Given the description of an element on the screen output the (x, y) to click on. 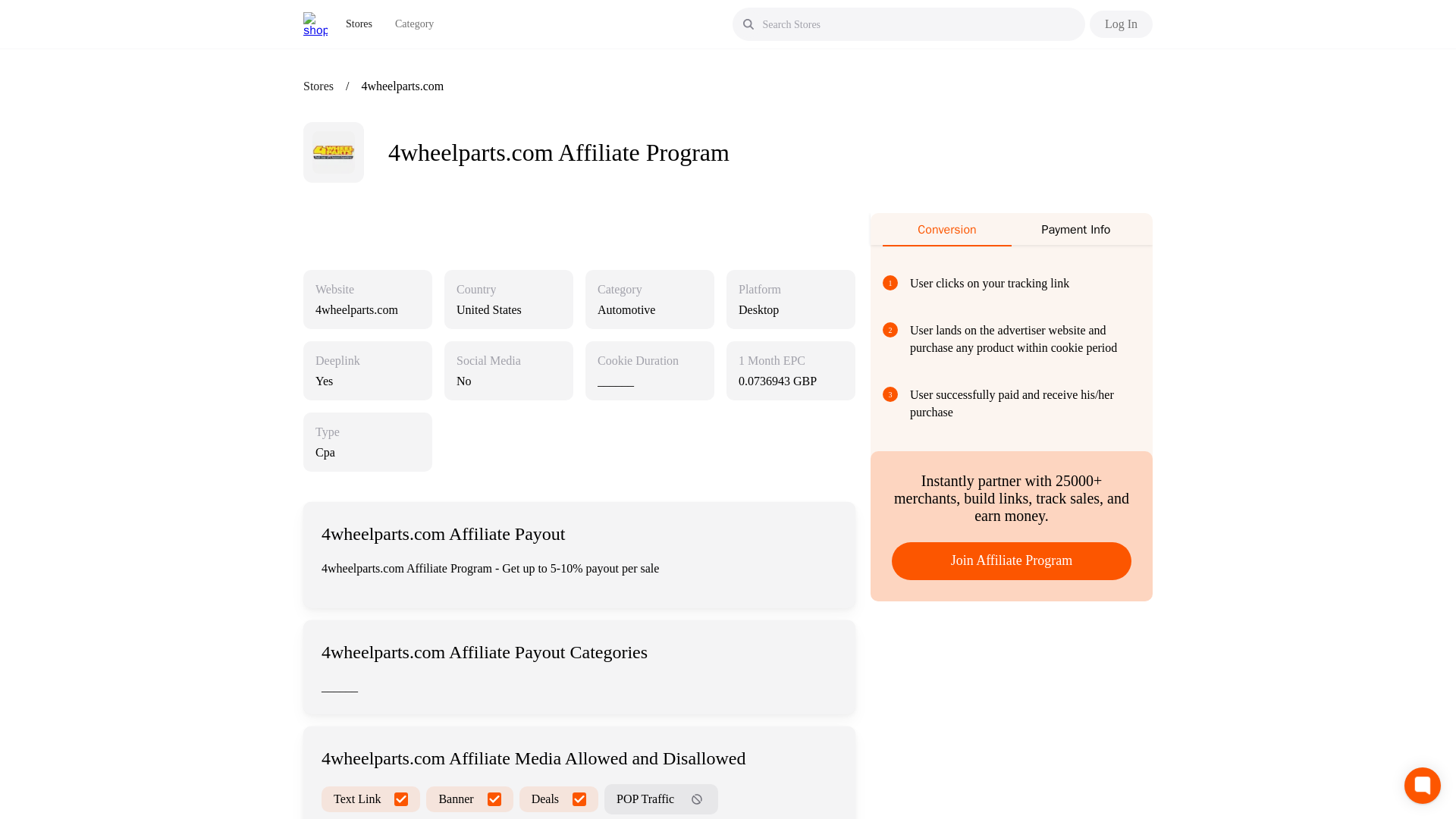
Stores (359, 24)
Website (334, 289)
Stores (317, 85)
Join Affiliate Program (1011, 560)
United States (508, 309)
1 Month EPC (771, 360)
Category (413, 24)
desktop (790, 309)
Social Media (489, 360)
Platform (759, 289)
